Given the description of an element on the screen output the (x, y) to click on. 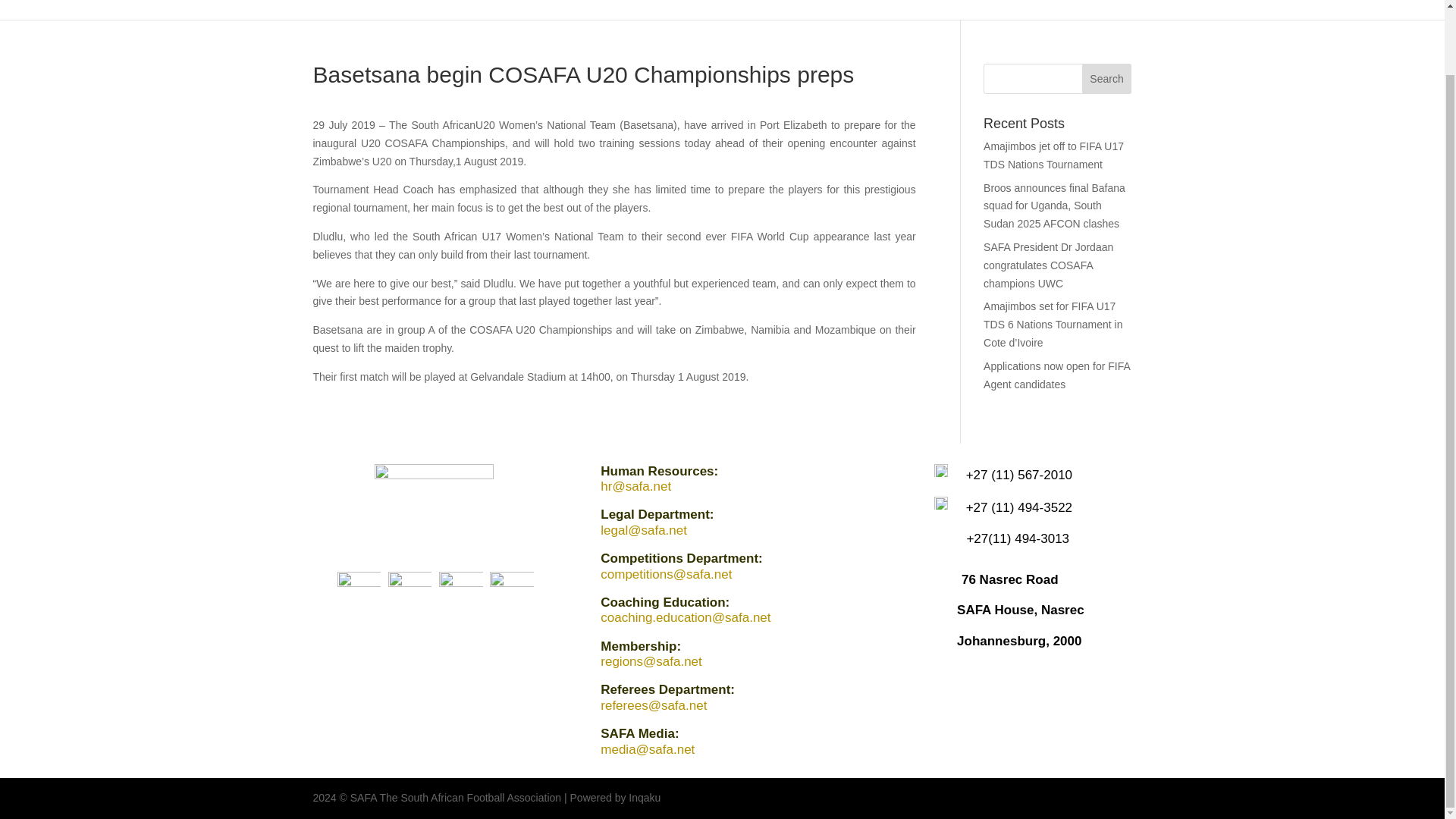
Coaching Education (838, 9)
Applications now open for FIFA Agent candidates (1056, 375)
SAFA House, Nasrec (1020, 609)
76 Nasrec Road (1009, 579)
Search (1106, 78)
SAFA President Dr Jordaan congratulates COSAFA champions UWC (1048, 264)
Vision 2022 (938, 9)
Amajimbos jet off to FIFA U17 TDS Nations Tournament  (1054, 155)
Search (1106, 78)
